Given the description of an element on the screen output the (x, y) to click on. 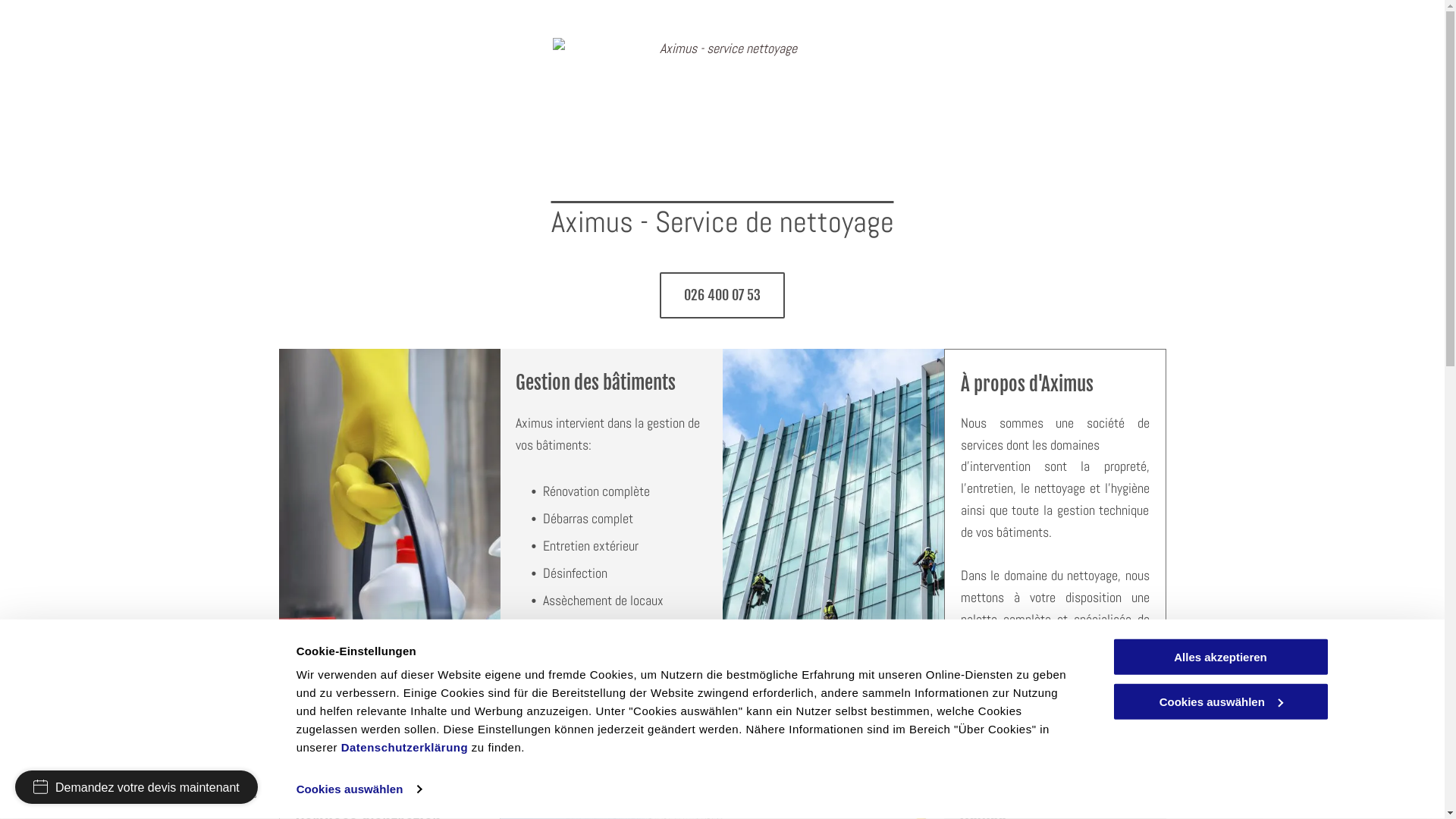
026 400 07 53 Element type: text (721, 295)
Demandez votre devis maintenant Element type: text (136, 786)
Alles akzeptieren Element type: text (1219, 656)
